Given the description of an element on the screen output the (x, y) to click on. 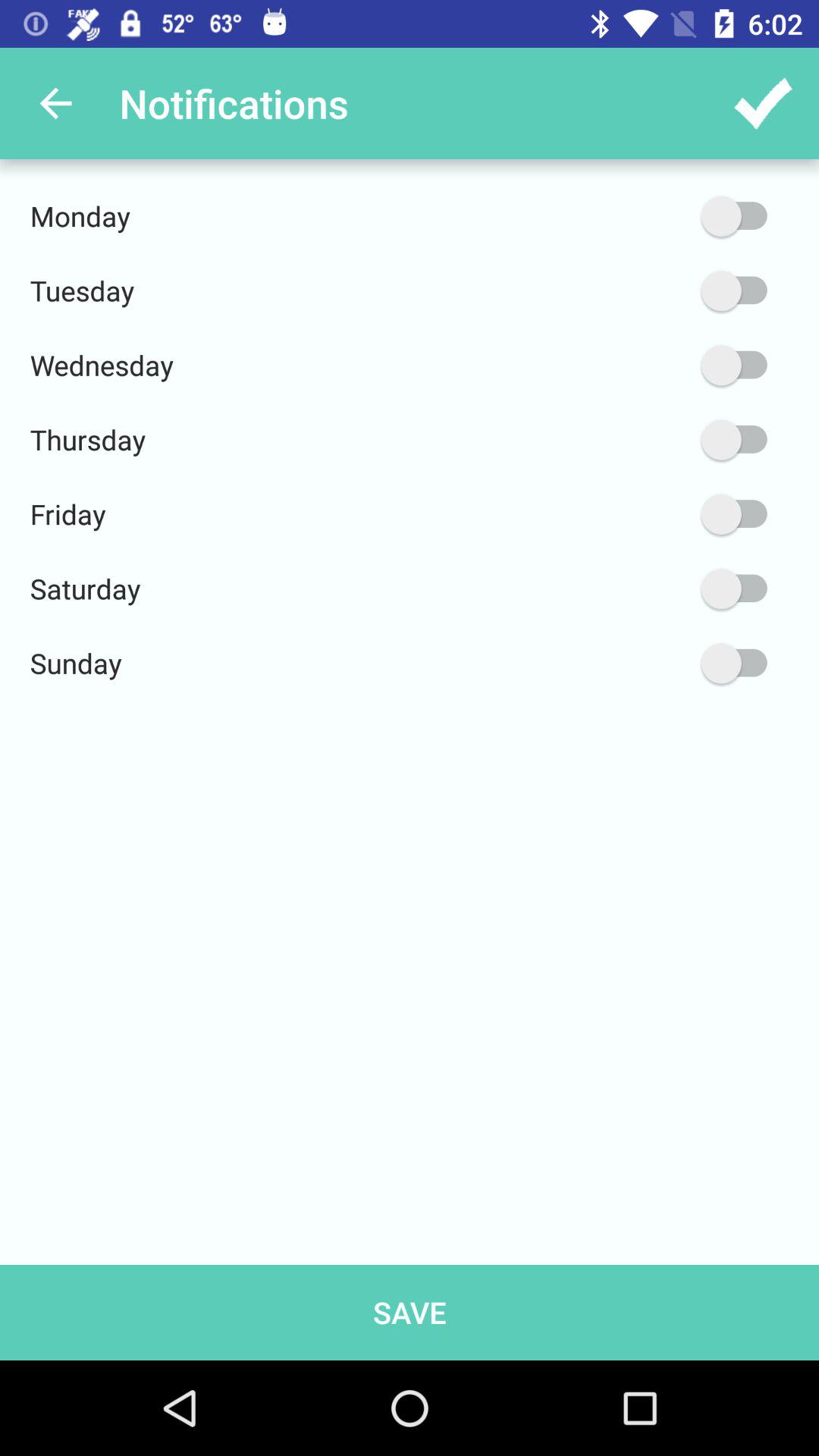
turn on the item next to sunday item (661, 663)
